Given the description of an element on the screen output the (x, y) to click on. 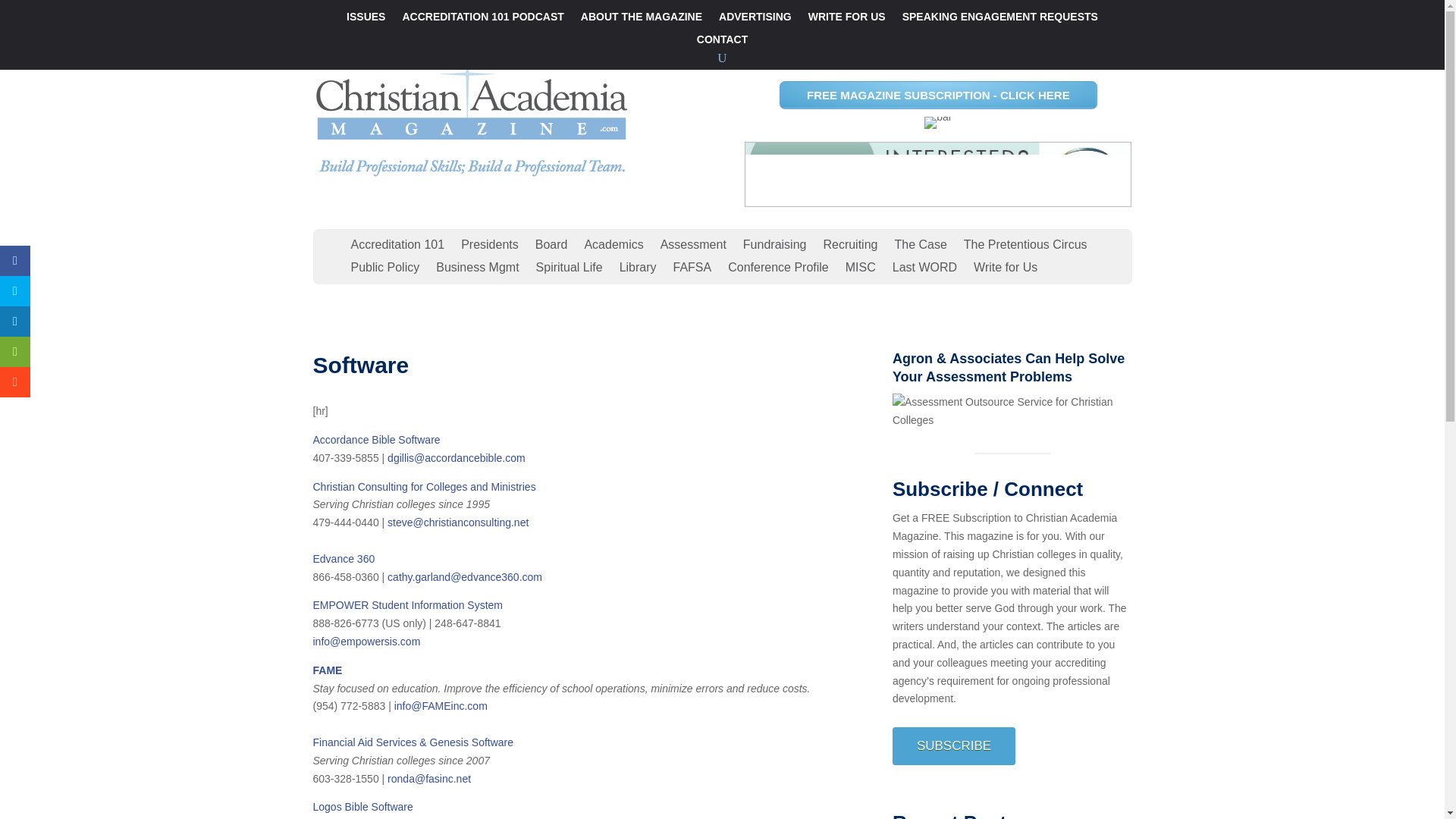
Academics (613, 247)
Business Mgmt (476, 270)
CONTACT (722, 42)
FAME (327, 670)
A101-AssessServBanner-510x85-v012523 (938, 174)
Fundraising (774, 247)
Last WORD (924, 270)
bar-300px (938, 122)
Public Policy (384, 270)
EMPOWER Student Information System (407, 604)
ABOUT THE MAGAZINE (640, 19)
ADVERTISING (755, 19)
WRITE FOR US (846, 19)
Spiritual Life (568, 270)
The Case (919, 247)
